Given the description of an element on the screen output the (x, y) to click on. 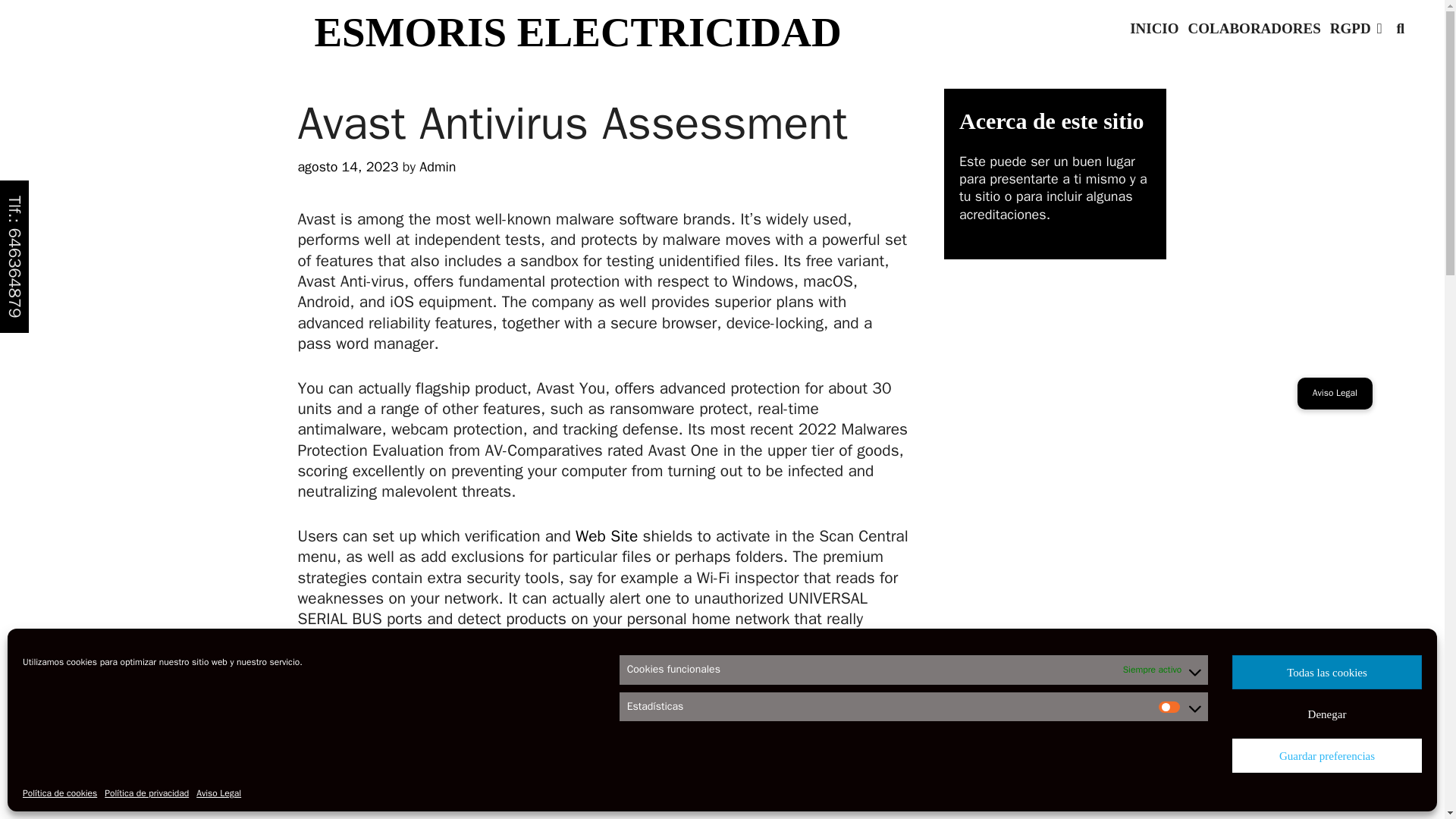
Guardar preferencias (1326, 755)
Admin (437, 166)
12:00 am (347, 166)
Search (144, 23)
Aviso Legal (218, 793)
COLABORADORES (1253, 28)
Todas las cookies (1326, 672)
agosto 14, 2023 (347, 166)
ESMORIS ELECTRICIDAD (577, 32)
Denegar (1326, 713)
View all posts by Admin (437, 166)
RGPD (1355, 28)
INICIO (1153, 28)
Web Site (606, 536)
